Given the description of an element on the screen output the (x, y) to click on. 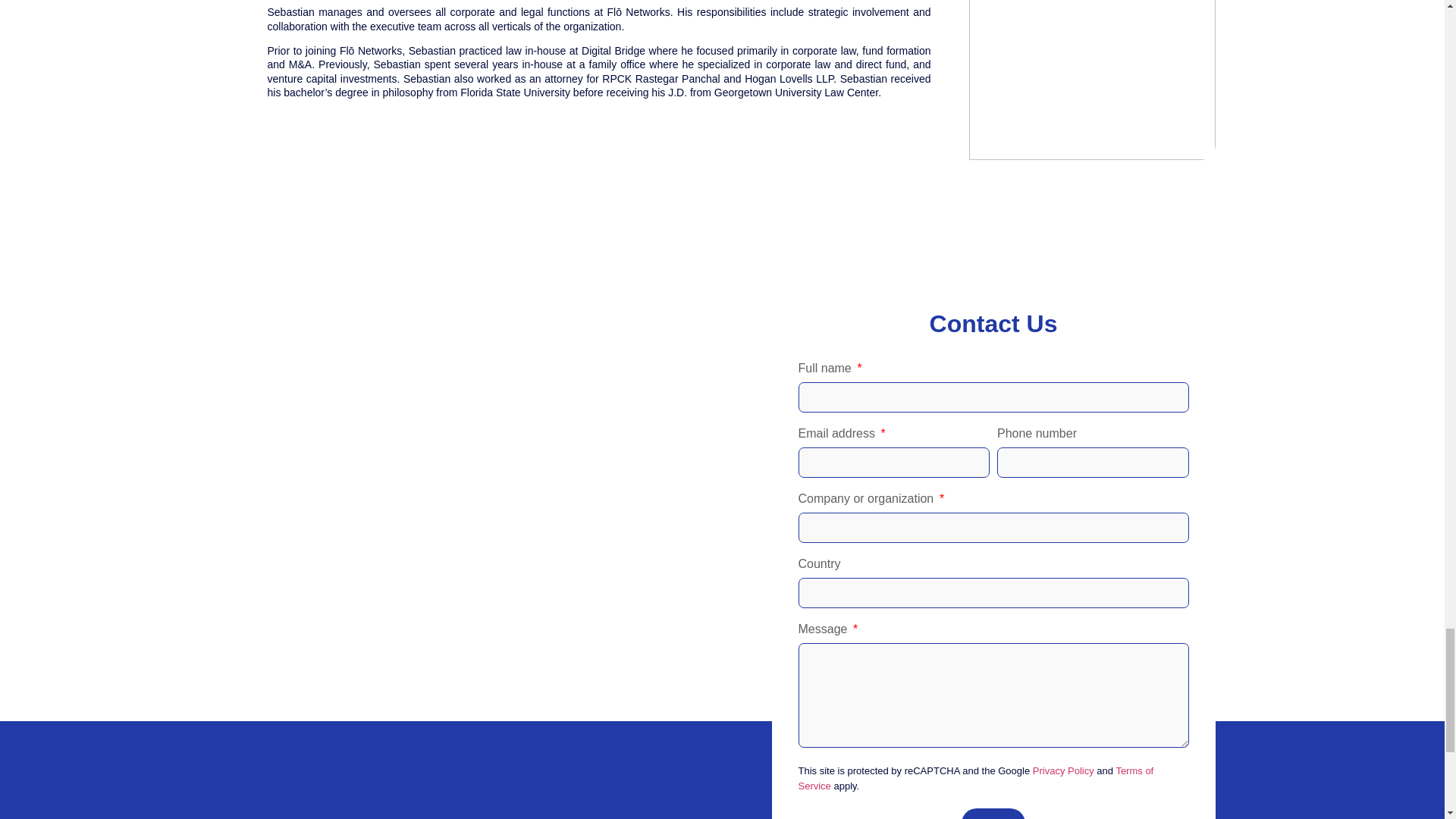
Terms of Service (975, 777)
Send (993, 813)
Privacy Policy (1063, 770)
